Given the description of an element on the screen output the (x, y) to click on. 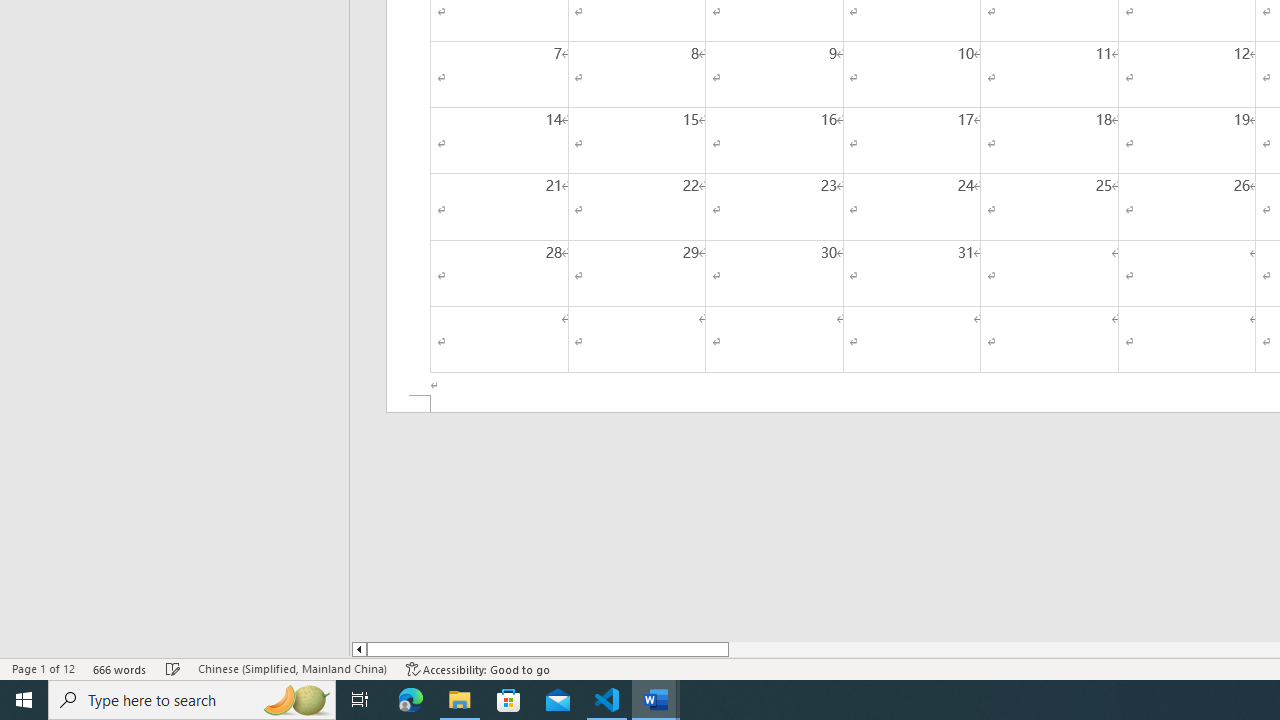
Column left (358, 649)
Page Number Page 1 of 12 (43, 668)
